Given the description of an element on the screen output the (x, y) to click on. 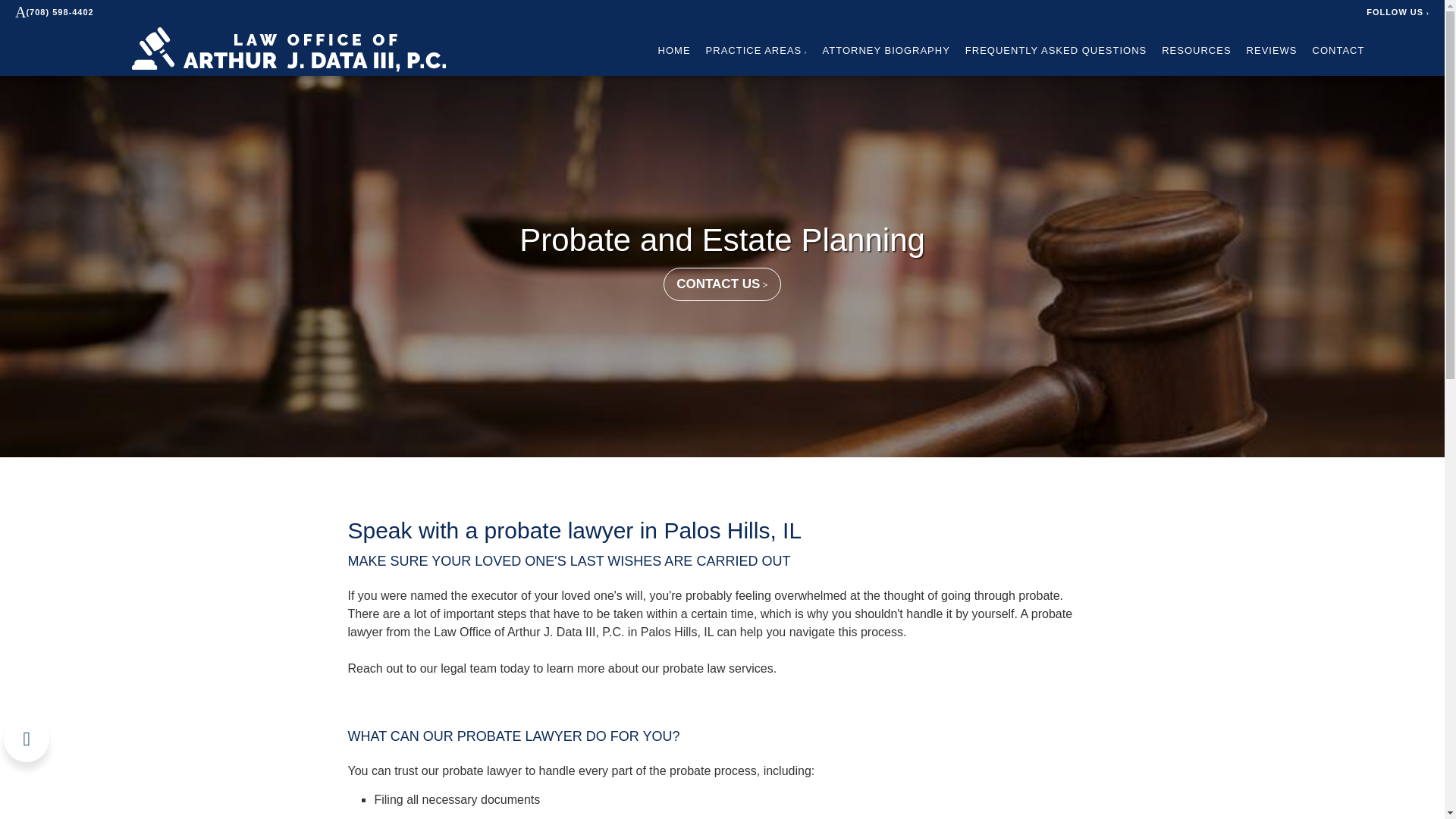
ATTORNEY BIOGRAPHY (886, 50)
REVIEWS (1271, 50)
HOME (674, 50)
CONTACT (1339, 50)
Probate and Estate Planning (721, 239)
CONTACT US (721, 284)
RESOURCES (1195, 50)
FREQUENTLY ASKED QUESTIONS (1056, 50)
